Given the description of an element on the screen output the (x, y) to click on. 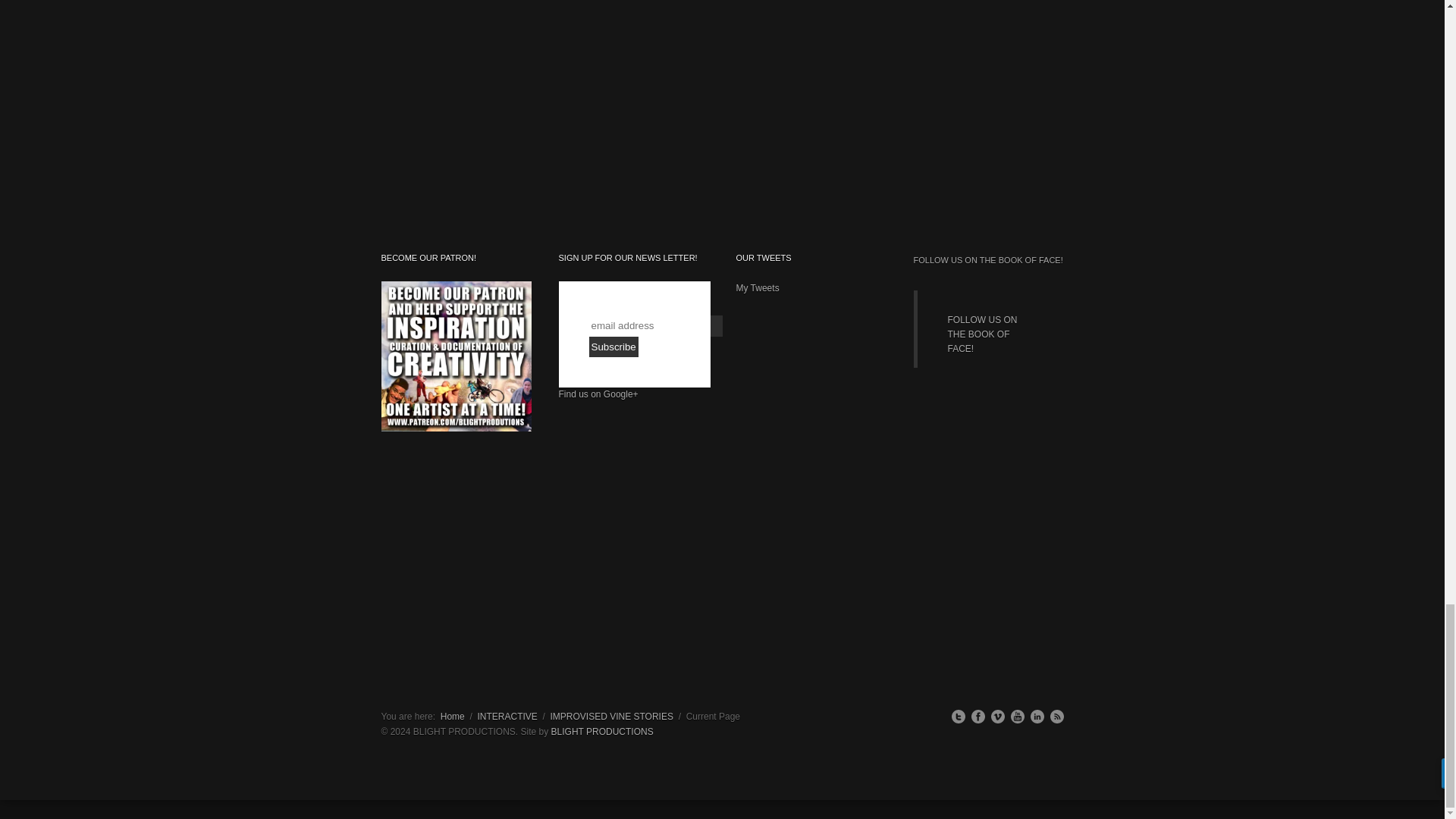
Subscribe via RSS (1055, 716)
LinkedIn (1036, 716)
Subscribe (612, 346)
